Given the description of an element on the screen output the (x, y) to click on. 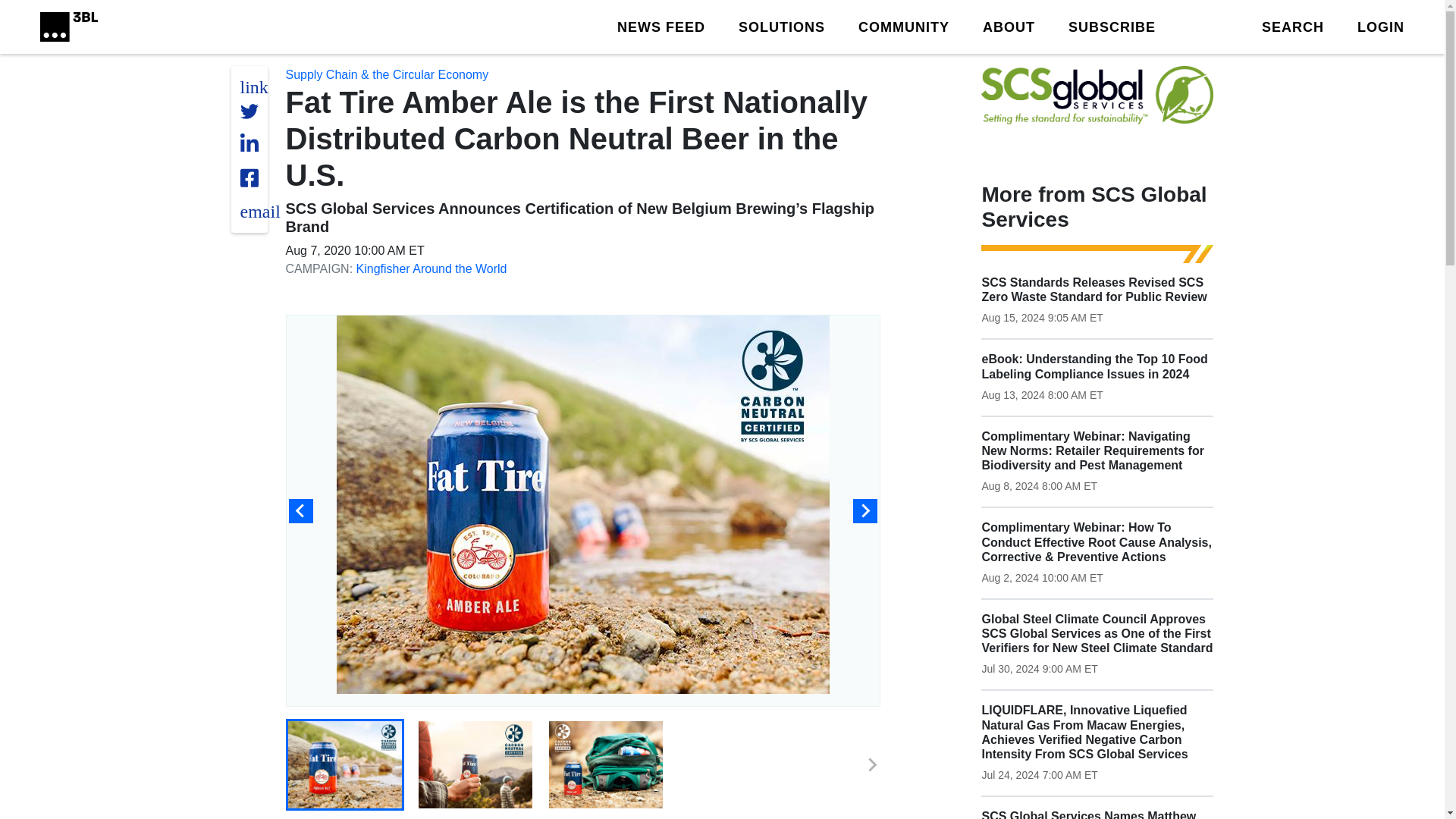
Share via email (259, 211)
NEWS FEED (660, 26)
SUBSCRIBE (1112, 26)
link to 3 B L Media's Twitter (253, 87)
COMMUNITY (904, 26)
ABOUT (1008, 26)
SOLUTIONS (781, 26)
